Given the description of an element on the screen output the (x, y) to click on. 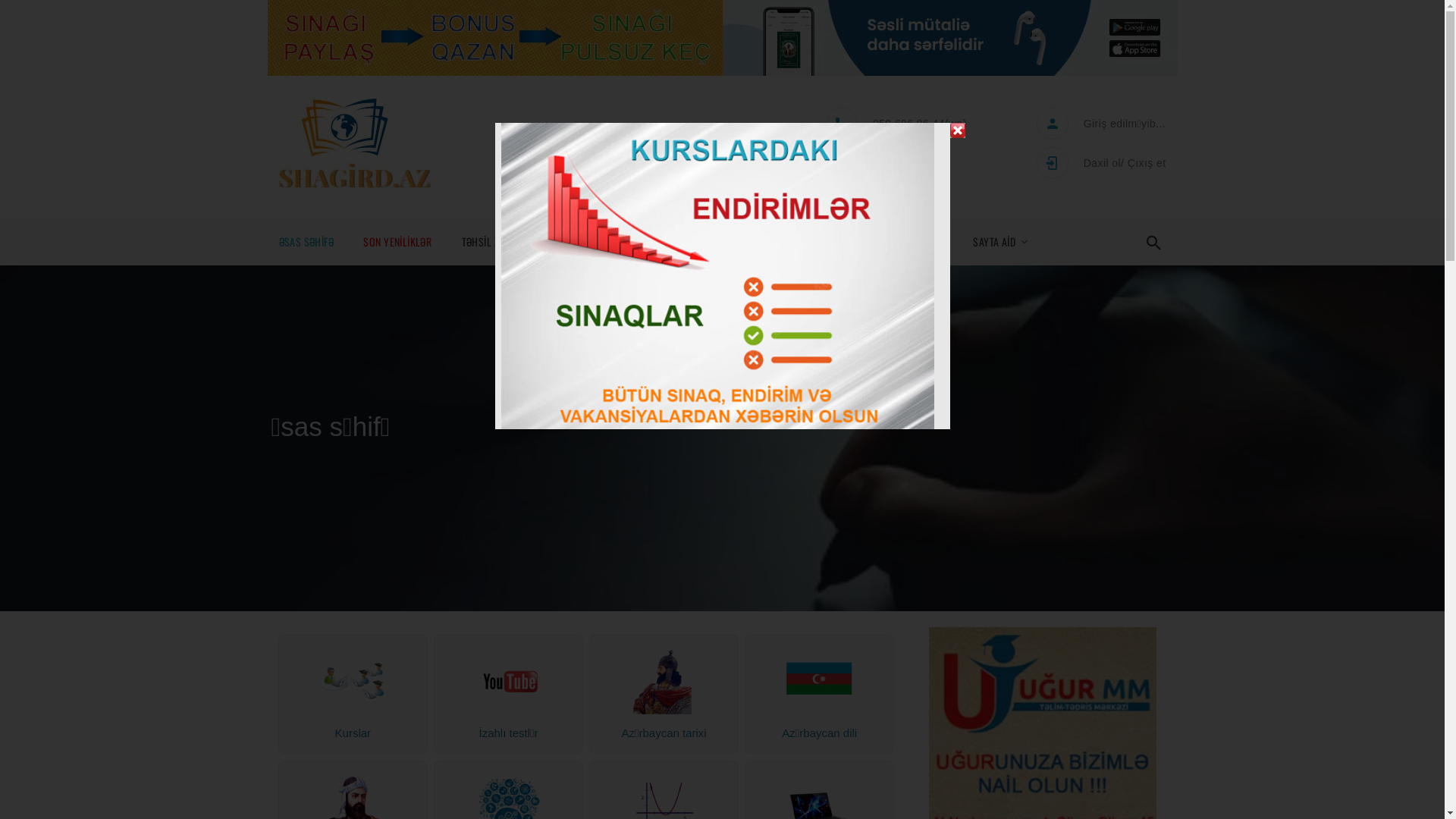
Daxil ol Element type: text (1101, 162)
Kurslar Element type: text (352, 729)
Bonus qazan!!! Element type: hover (493, 37)
Logo Element type: hover (354, 143)
main Element type: hover (722, 438)
050 686 86 44 Element type: text (908, 122)
KURSLAR Element type: text (777, 241)
